Given the description of an element on the screen output the (x, y) to click on. 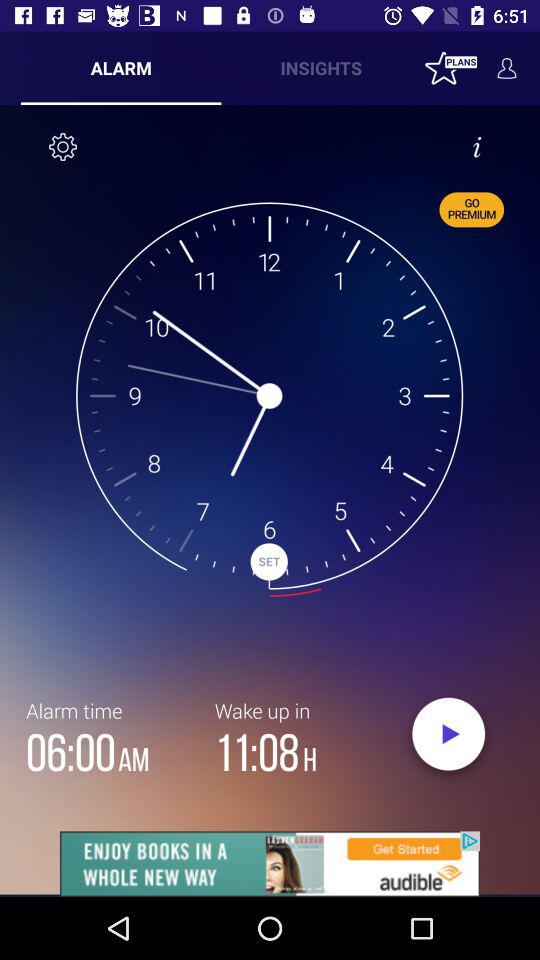
setting (63, 147)
